Given the description of an element on the screen output the (x, y) to click on. 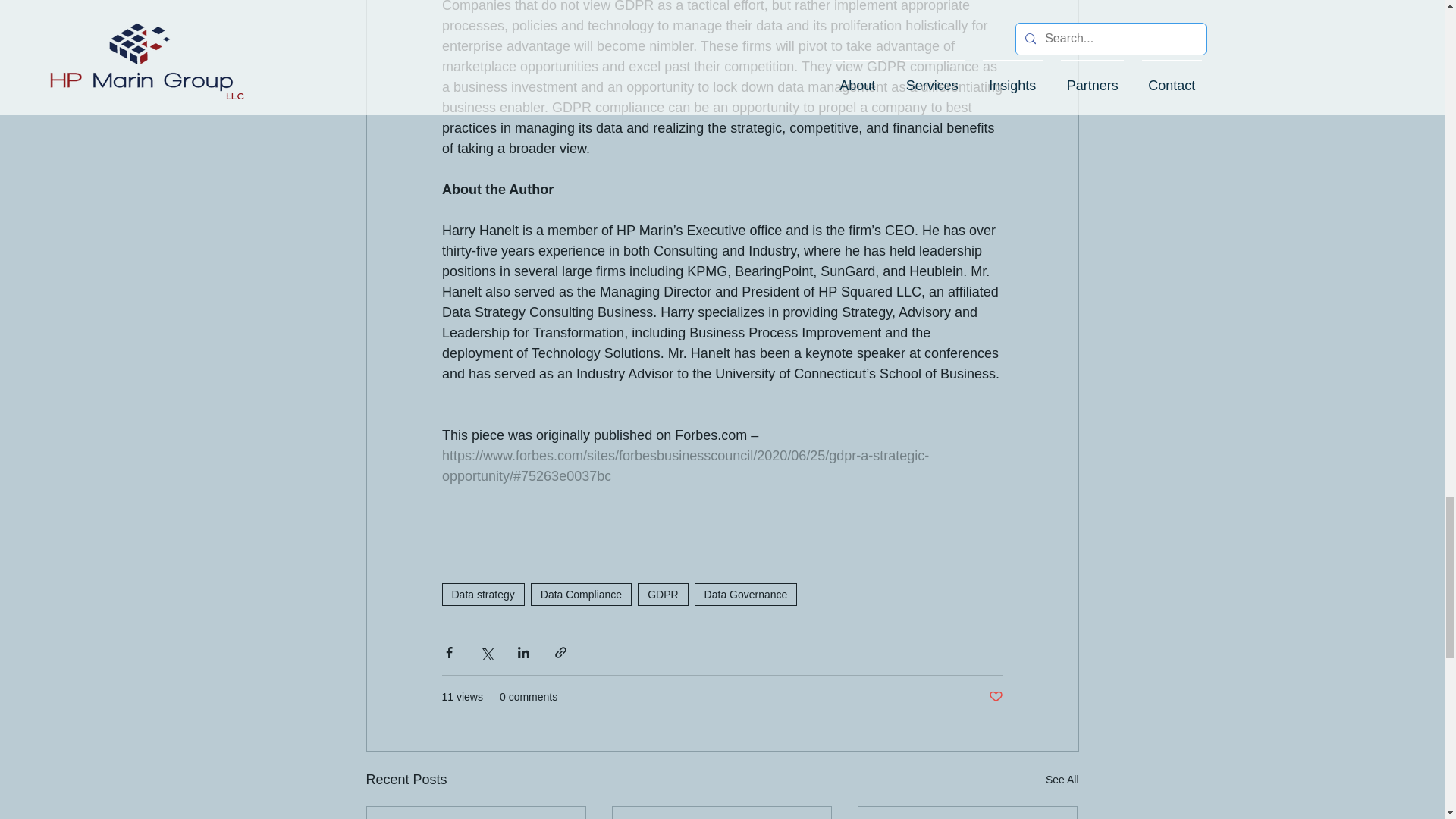
Post not marked as liked (995, 697)
Data Governance (745, 594)
See All (1061, 780)
Data Compliance (581, 594)
Data strategy (482, 594)
GDPR (662, 594)
